Given the description of an element on the screen output the (x, y) to click on. 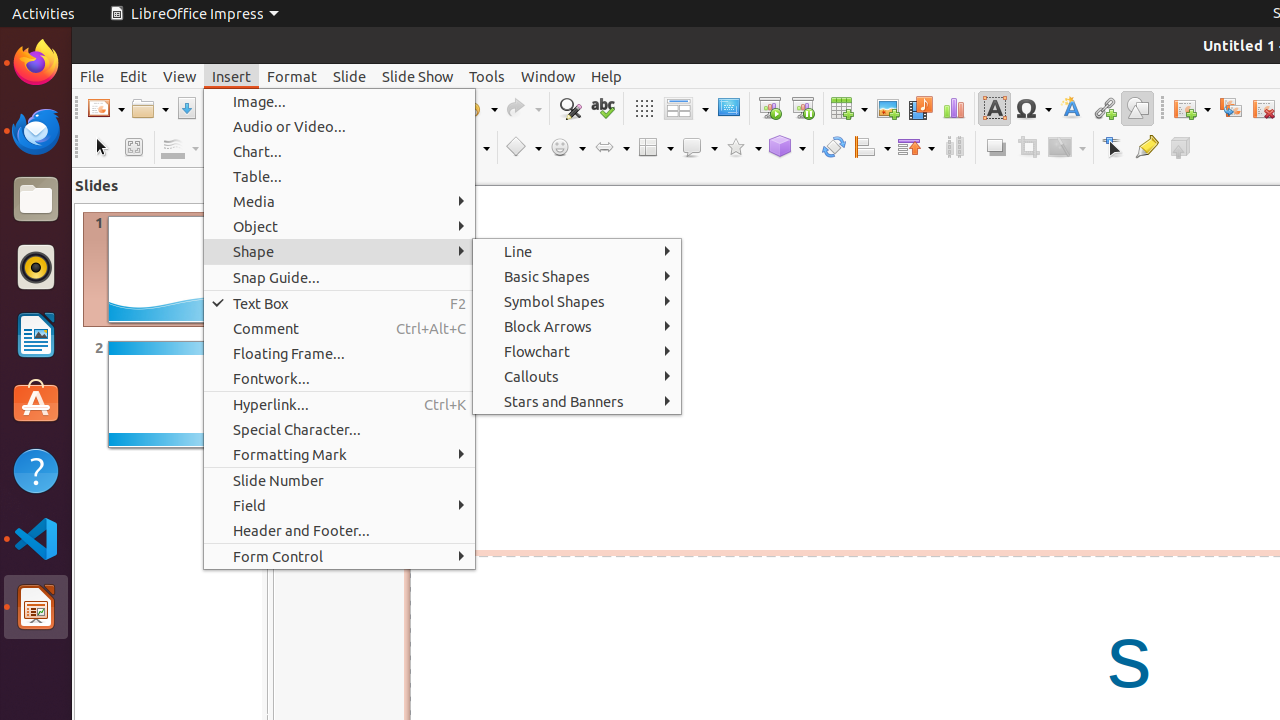
Snap Guide... Element type: menu-item (339, 277)
Comment Element type: menu-item (339, 328)
Window Element type: menu (548, 76)
Shape Element type: menu (339, 251)
Form Control Element type: menu (339, 556)
